Given the description of an element on the screen output the (x, y) to click on. 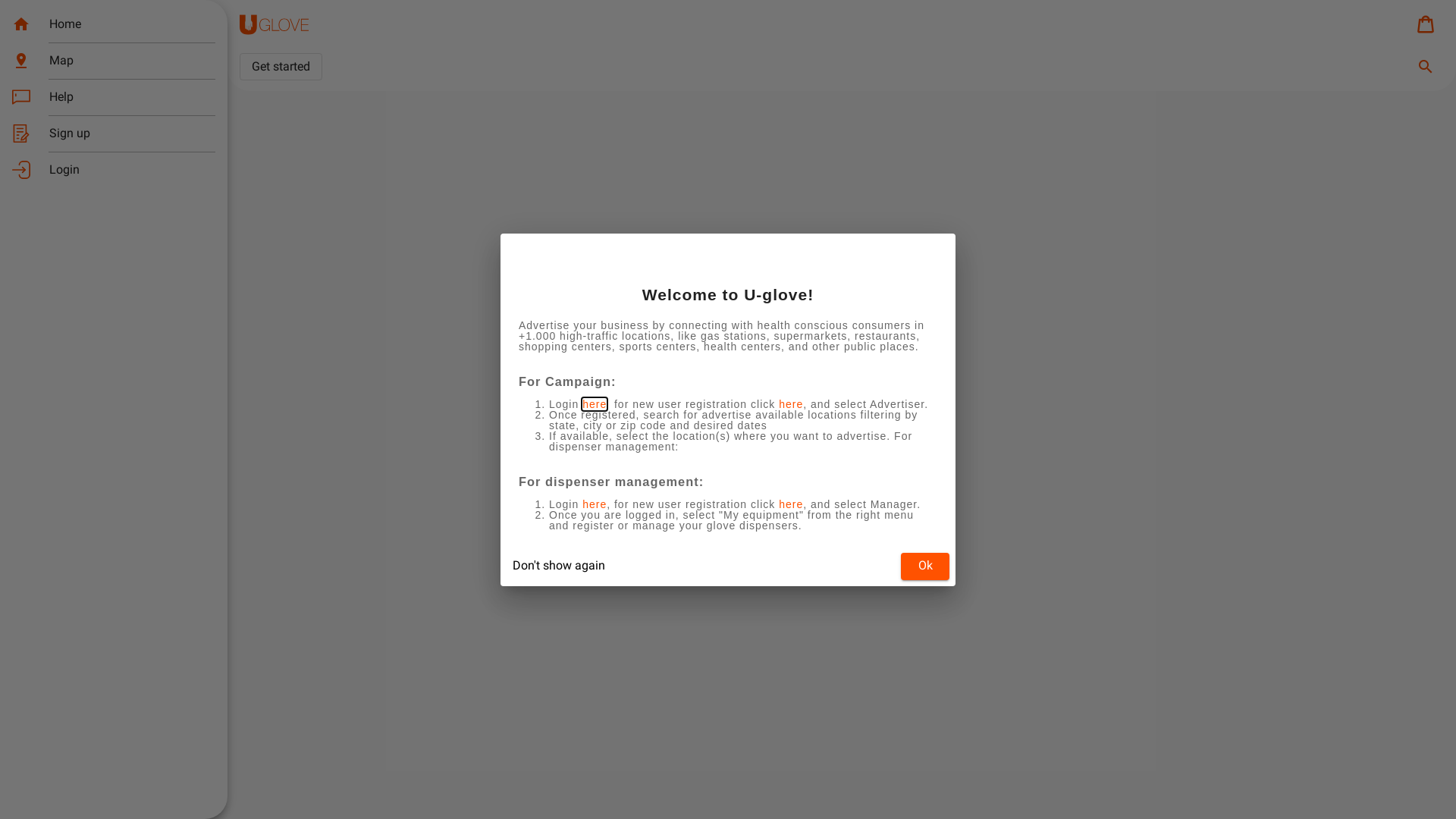
here Element type: text (594, 503)
search Element type: text (1425, 66)
Login Element type: text (113, 169)
Help Element type: text (113, 96)
pin_drop
Map Element type: text (113, 60)
Sign up Element type: text (113, 133)
Ok Element type: text (924, 565)
here Element type: text (790, 403)
here Element type: text (790, 503)
Don't show again Element type: text (558, 565)
here Element type: text (594, 403)
home
Home Element type: text (113, 24)
Continue Element type: text (727, 447)
Get started Element type: text (280, 66)
